Given the description of an element on the screen output the (x, y) to click on. 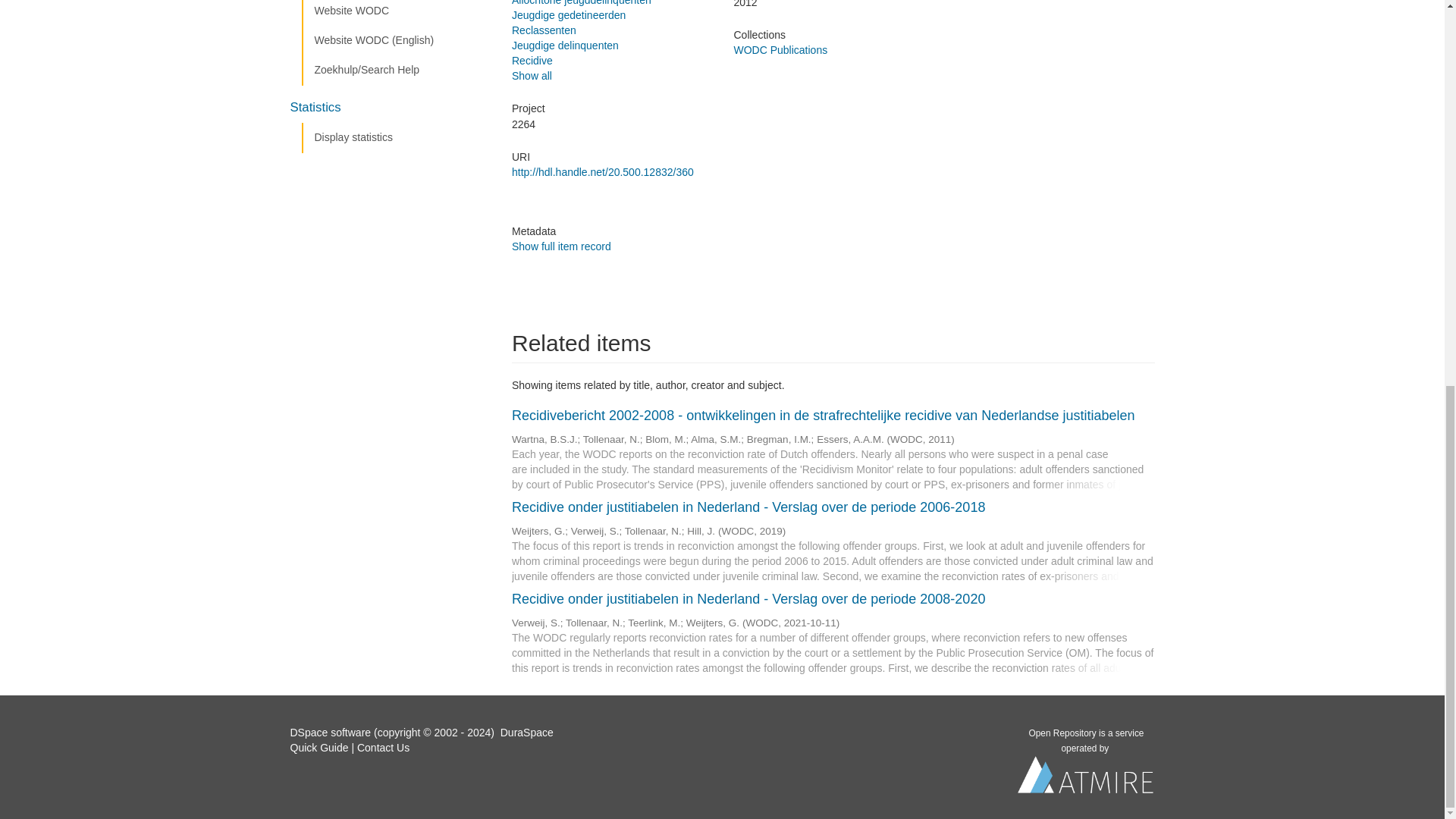
Click to expand (833, 630)
Click to expand (833, 538)
Display statistics (395, 137)
Website WODC (395, 13)
Click to expand (833, 447)
Atmire NV (1085, 778)
